Given the description of an element on the screen output the (x, y) to click on. 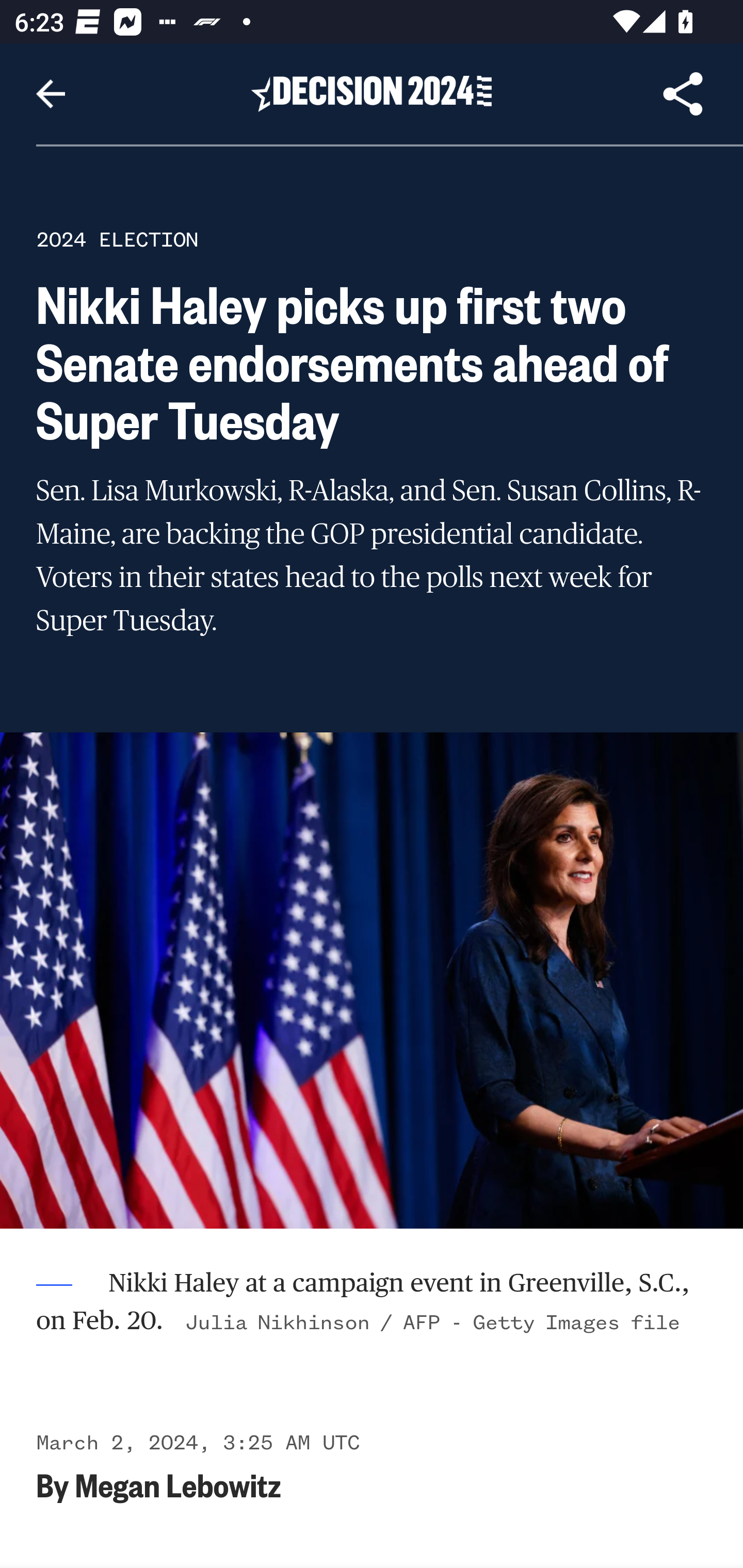
Navigate up (50, 93)
Share Article, button (683, 94)
Header, Decision 2024 (371, 93)
2024 ELECTION (117, 239)
